Given the description of an element on the screen output the (x, y) to click on. 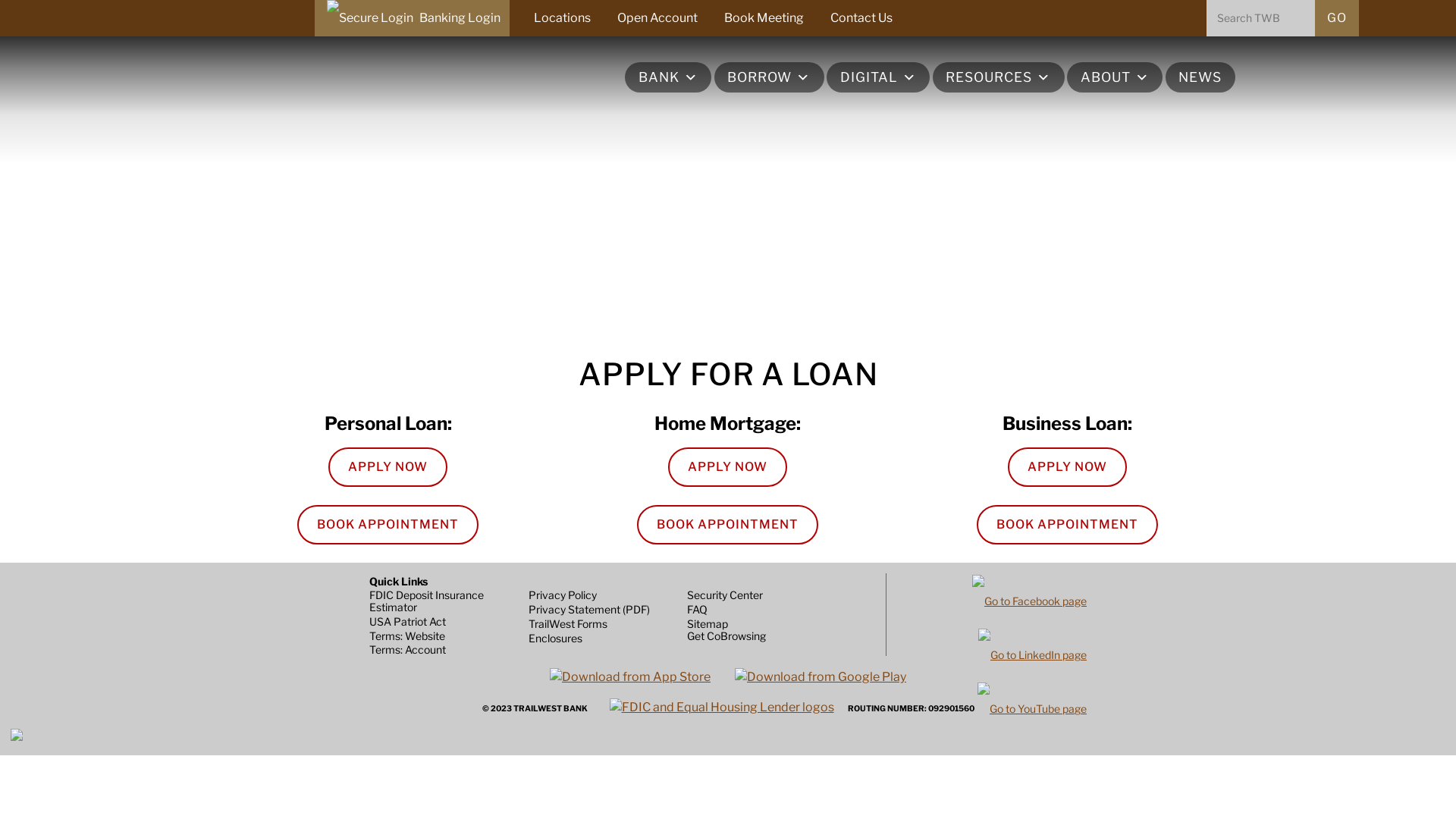
Sitemap Element type: text (707, 623)
NEWS Element type: text (1199, 77)
BOOK APPOINTMENT Element type: text (727, 524)
RESOURCES Element type: text (998, 77)
APPLY NOW Element type: text (727, 466)
FDIC Deposit Insurance Estimator Element type: text (443, 600)
APPLY NOW Element type: text (1067, 466)
Terms: Account Element type: text (407, 649)
Security Center Element type: text (724, 594)
DIGITAL Element type: text (877, 77)
Locations Element type: text (561, 17)
Open Account Element type: text (657, 17)
BORROW Element type: text (769, 77)
Privacy Statement (PDF) Element type: text (588, 608)
APPLY NOW Element type: text (387, 466)
Enclosures Element type: text (555, 637)
TrailWest Forms Element type: text (567, 623)
ABOUT Element type: text (1114, 77)
Privacy Policy Element type: text (562, 594)
BOOK APPOINTMENT Element type: text (1067, 524)
Book Meeting Element type: text (763, 17)
GO Element type: text (1336, 18)
BOOK APPOINTMENT Element type: text (387, 524)
USA Patriot Act Element type: text (407, 621)
BANK Element type: text (667, 77)
Terms: Website Element type: text (407, 635)
Contact Us Element type: text (860, 17)
FAQ Element type: text (697, 608)
Get CoBrowsing Element type: text (726, 635)
Banking Login Element type: text (410, 18)
